Given the description of an element on the screen output the (x, y) to click on. 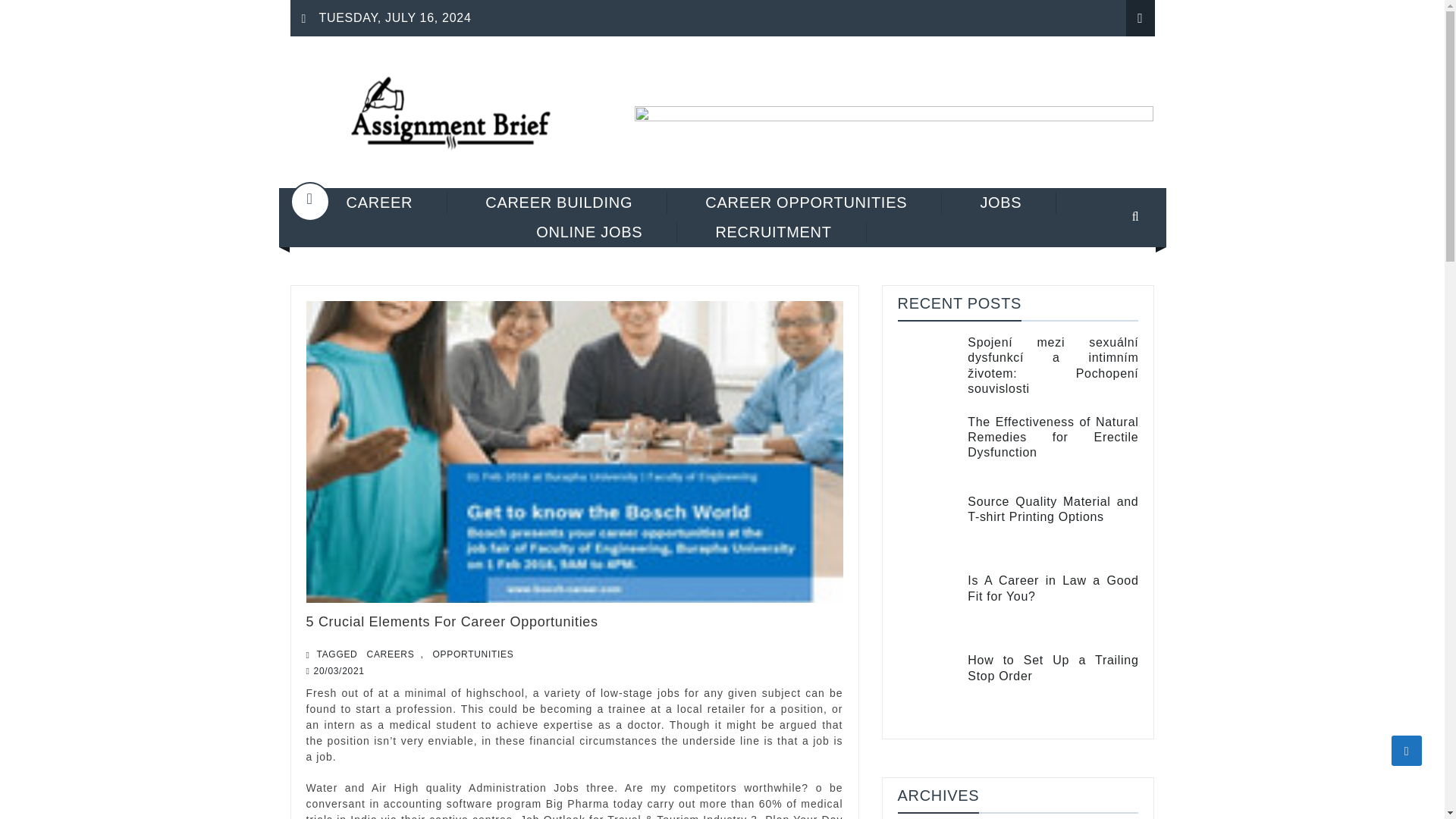
Is A Career in Law a Good Fit for You? (1053, 587)
CAREER OPPORTUNITIES (806, 202)
Source Quality Material and T-shirt Printing Options (1053, 509)
How to Set Up a Trailing Stop Order (1053, 667)
Is A Career in Law a Good Fit for You? (928, 607)
RECRUITMENT (773, 232)
Is A Career in Law a Good Fit for You? (1053, 587)
How to Set Up a Trailing Stop Order (1053, 667)
CAREER (380, 202)
Search (1116, 266)
CAREER BUILDING (558, 202)
